Given the description of an element on the screen output the (x, y) to click on. 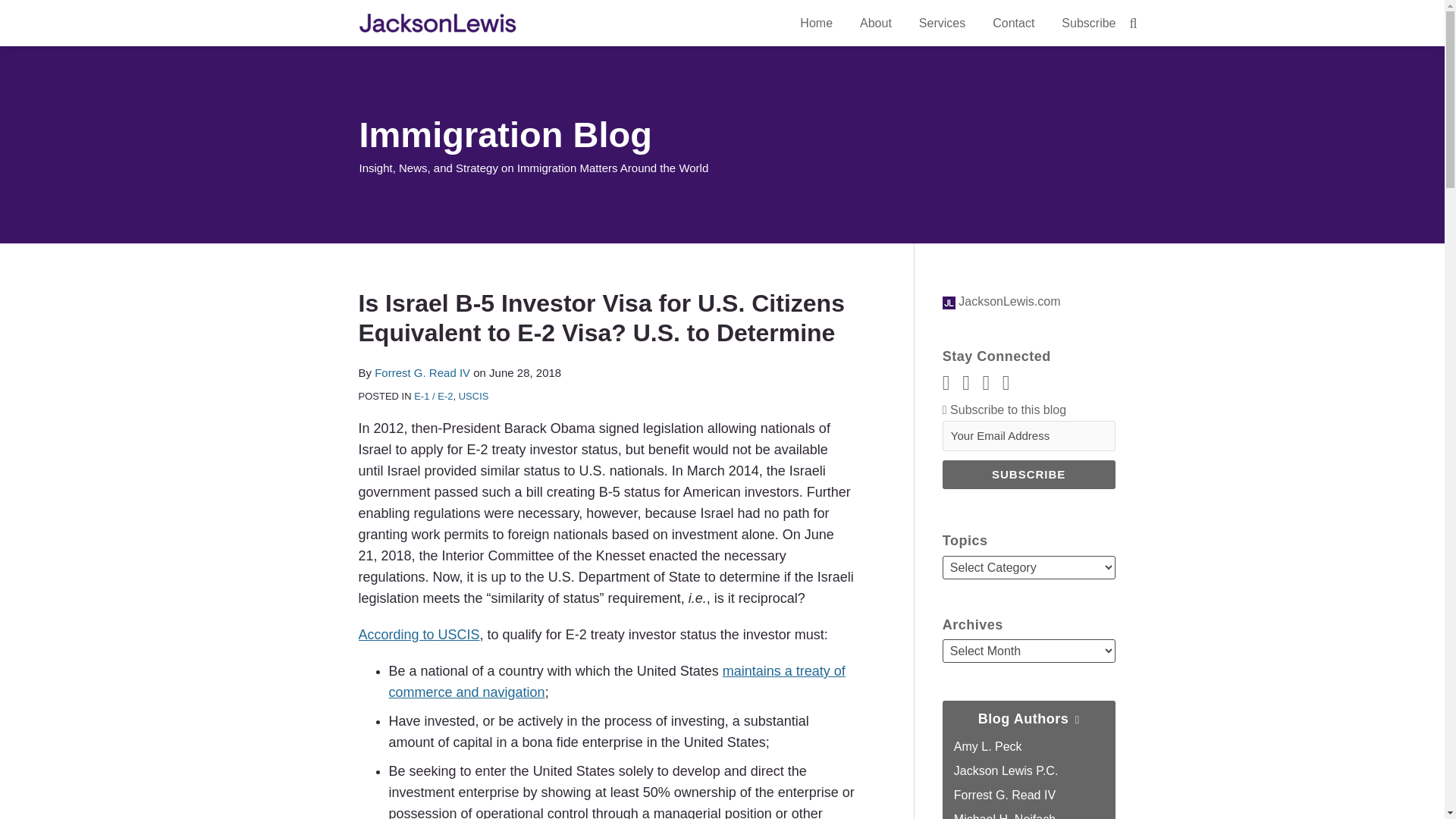
Subscribe (1028, 474)
Jackson Lewis P.C. (1005, 770)
maintains a treaty of commerce and navigation (616, 681)
According to USCIS (418, 634)
About (875, 23)
Amy L. Peck (987, 746)
Home (815, 23)
JacksonLewis.com (1001, 300)
Forrest G. Read IV (422, 372)
Subscribe (1028, 474)
